Given the description of an element on the screen output the (x, y) to click on. 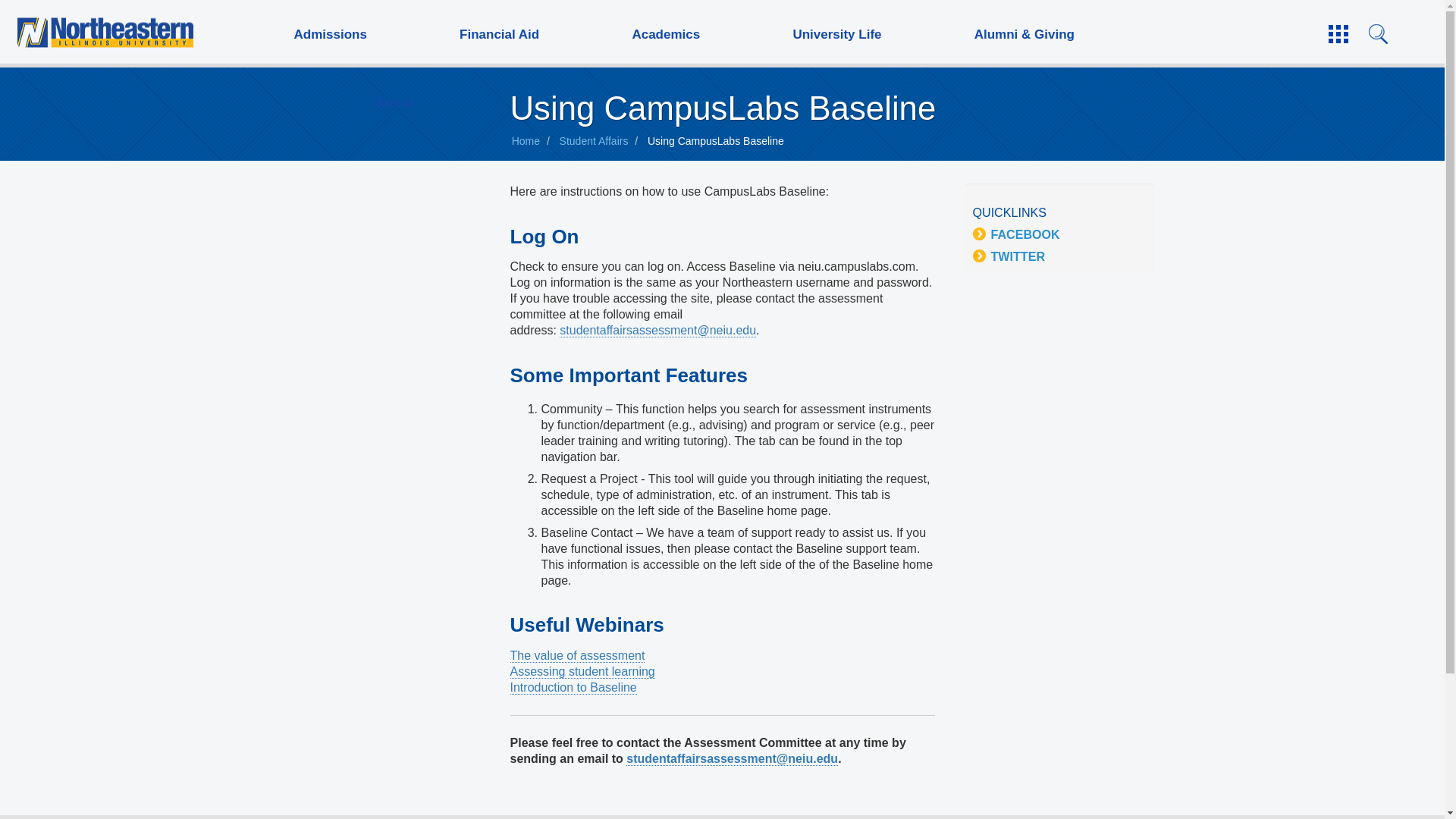
Admissions (329, 33)
Academics (665, 33)
Financial Aid (499, 33)
